Given the description of an element on the screen output the (x, y) to click on. 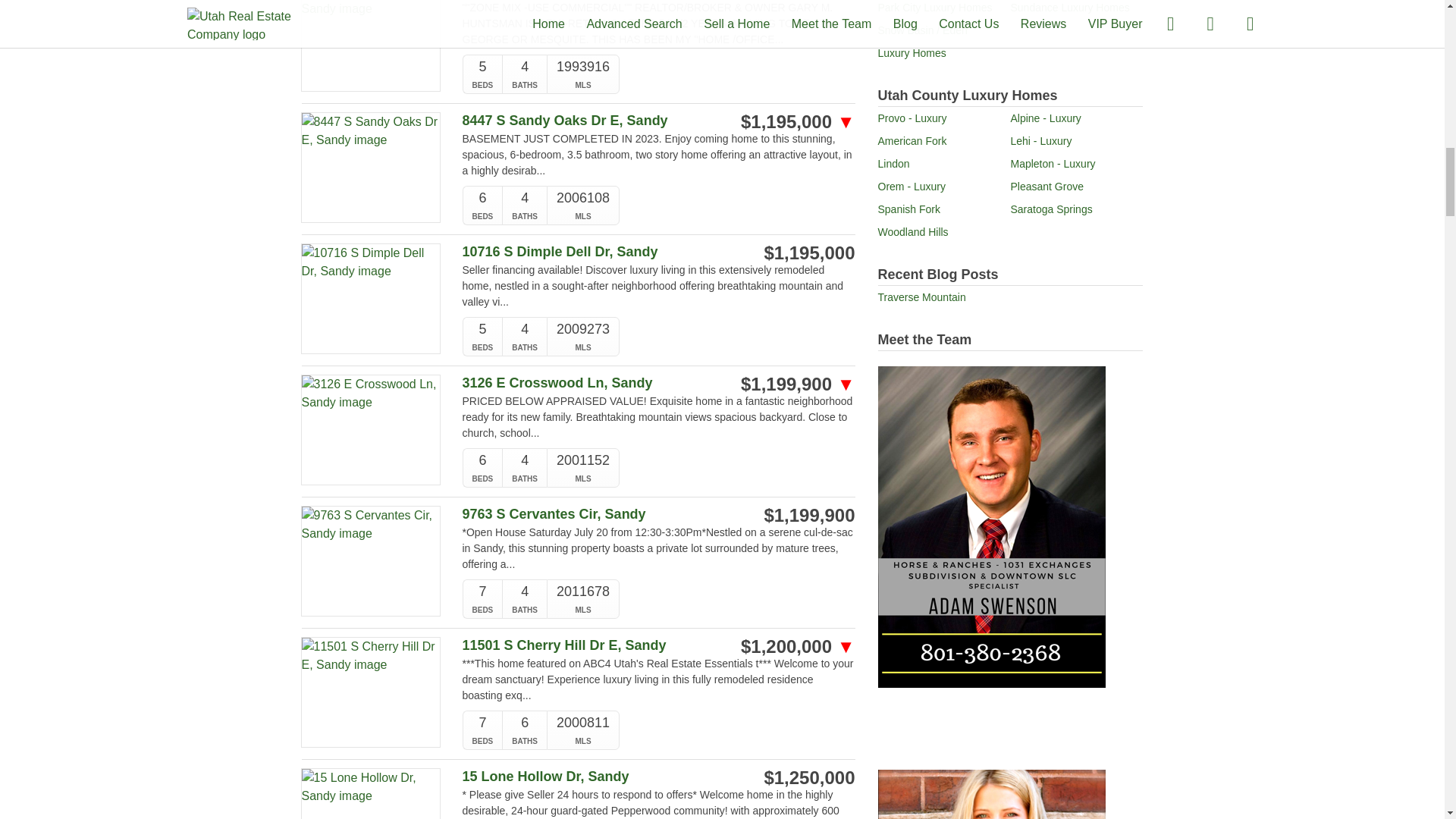
Adam Swenson horse property specialist (991, 526)
